Given the description of an element on the screen output the (x, y) to click on. 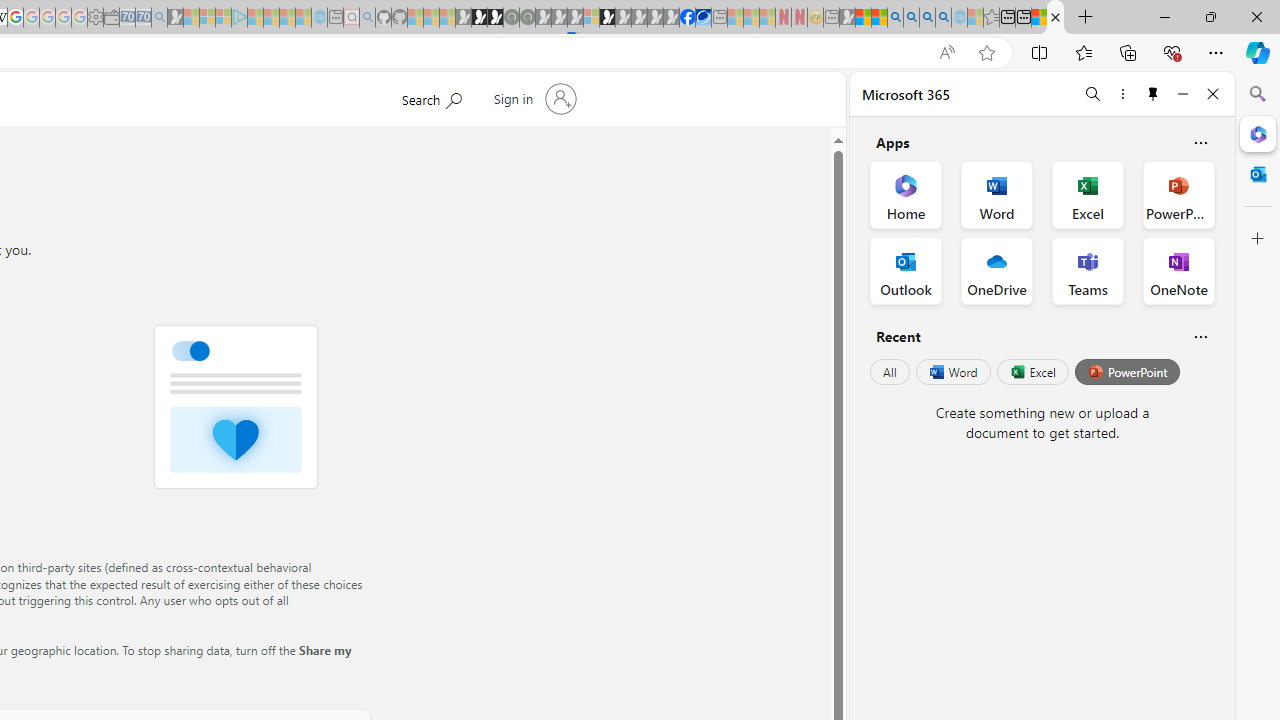
MSN - Sleeping (847, 17)
Excel (1031, 372)
Excel Office App (1087, 194)
Close Microsoft 365 pane (1258, 133)
